Given the description of an element on the screen output the (x, y) to click on. 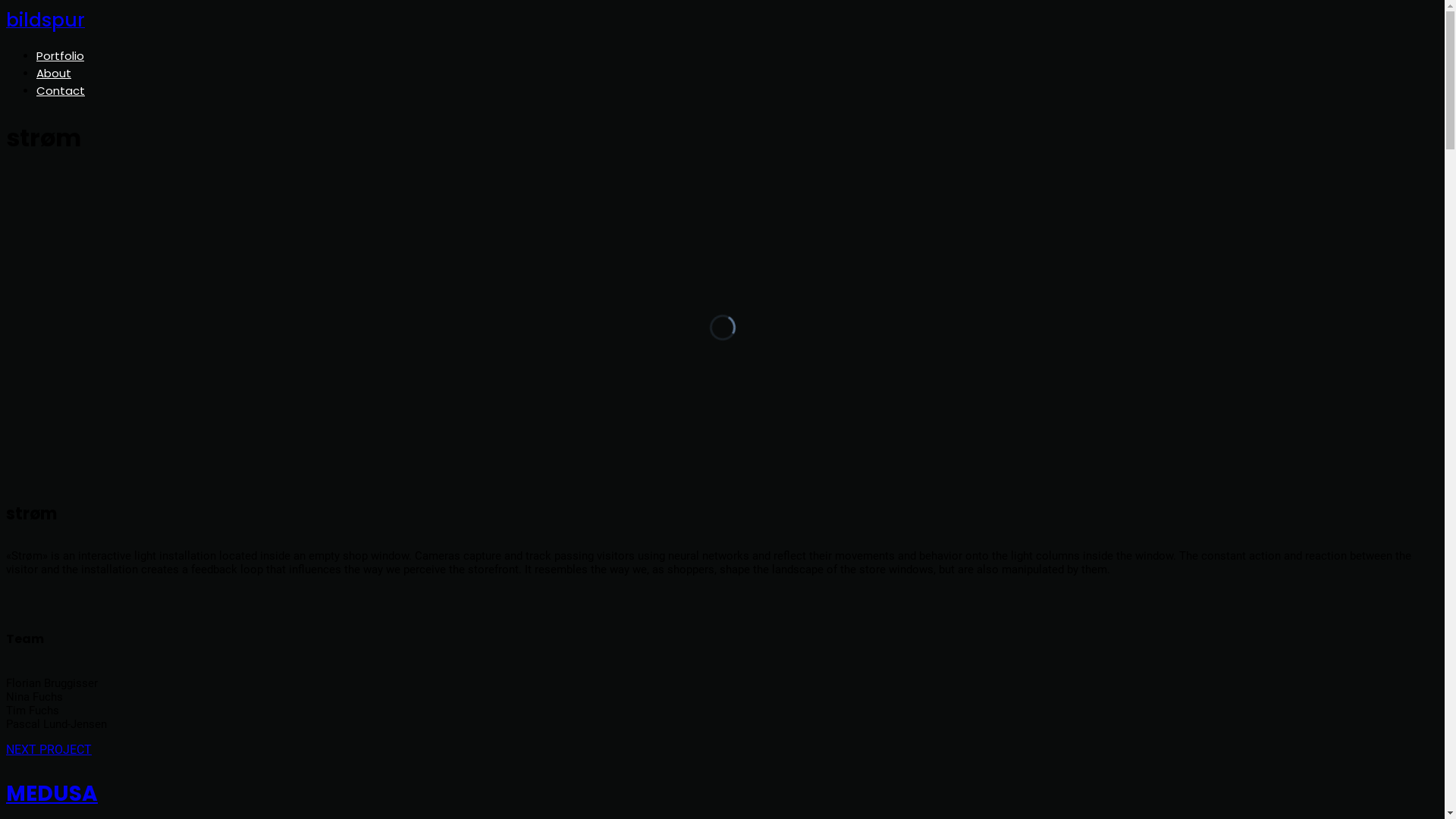
bildspur Element type: text (45, 22)
About Element type: text (53, 73)
NEXT PROJECT Element type: text (48, 749)
Contact Element type: text (60, 90)
MEDUSA Element type: text (722, 793)
Portfolio Element type: text (60, 55)
